Given the description of an element on the screen output the (x, y) to click on. 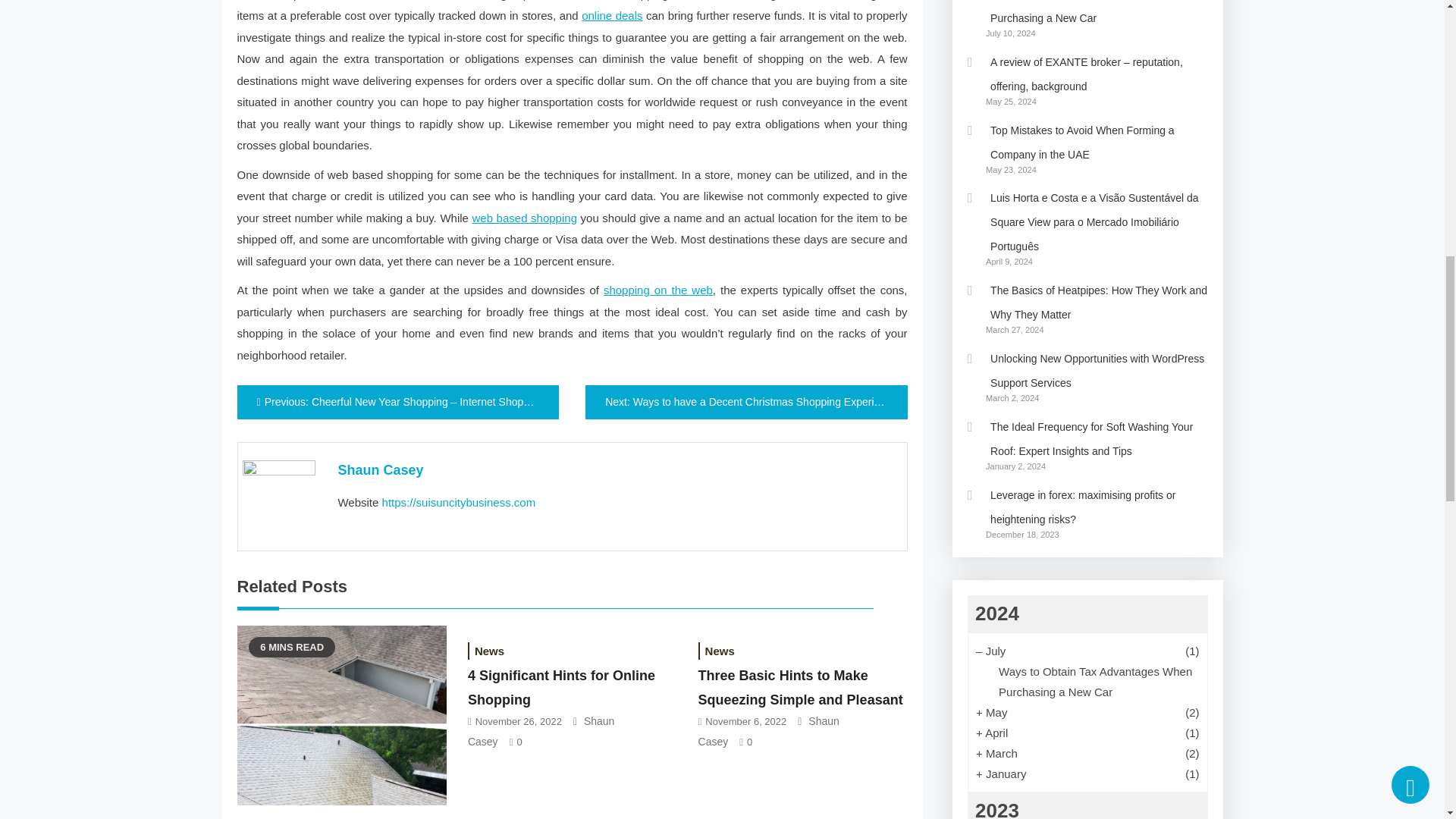
Posts by Shaun Casey (380, 469)
Shaun Casey (380, 469)
Next: Ways to have a Decent Christmas Shopping Experience (746, 401)
online deals (611, 15)
web based shopping (523, 216)
shopping on the web (658, 289)
